Given the description of an element on the screen output the (x, y) to click on. 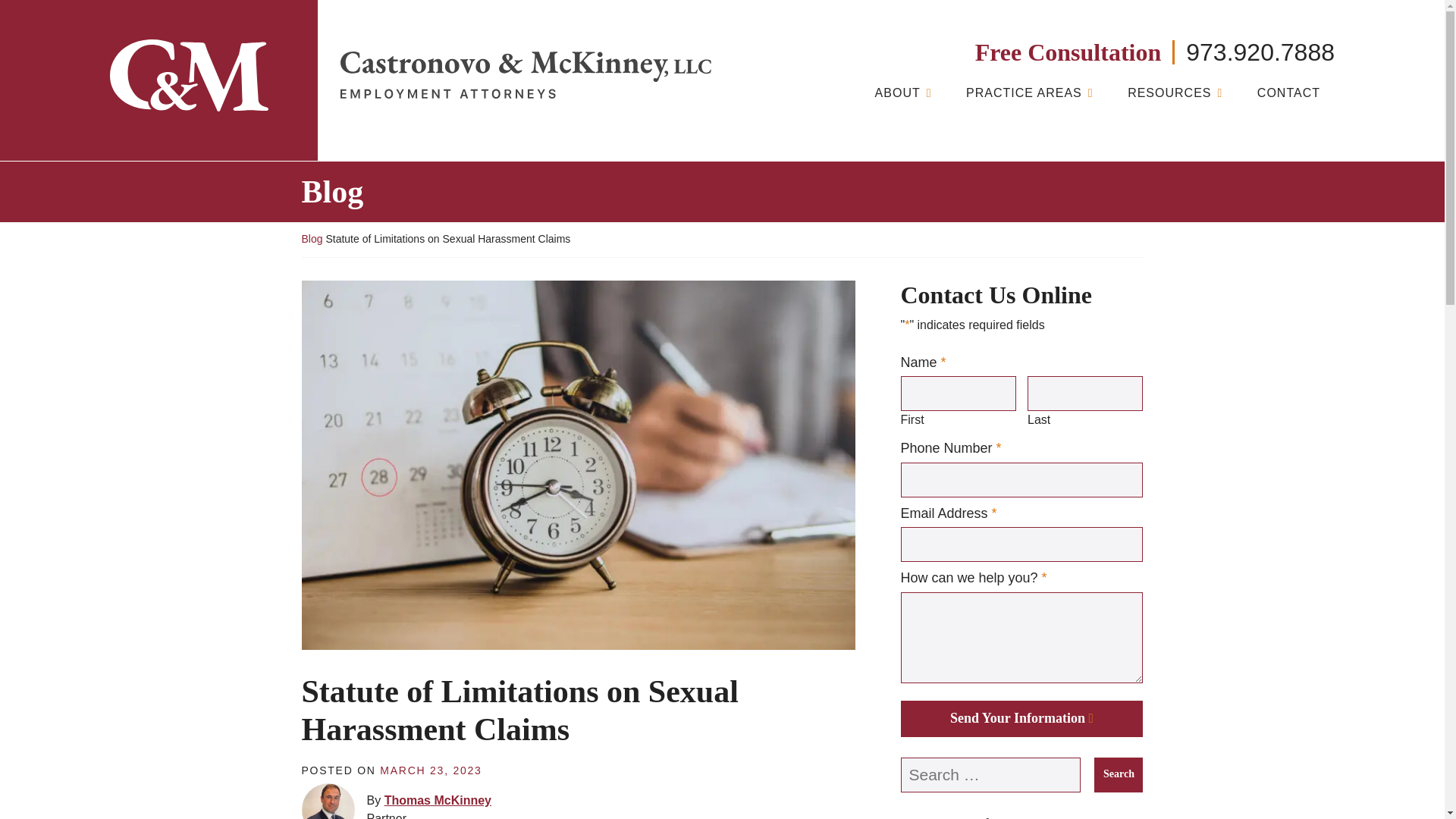
Search (1118, 774)
973.920.7888 (1260, 52)
Return home (525, 74)
Free Consultation (1074, 52)
MARCH 23, 2023 (430, 770)
Search (1118, 774)
RESOURCES (1174, 95)
Blog (312, 238)
PRACTICE AREAS (1029, 95)
Search for: (991, 774)
ABOUT (903, 95)
CONTACT (1288, 95)
